Given the description of an element on the screen output the (x, y) to click on. 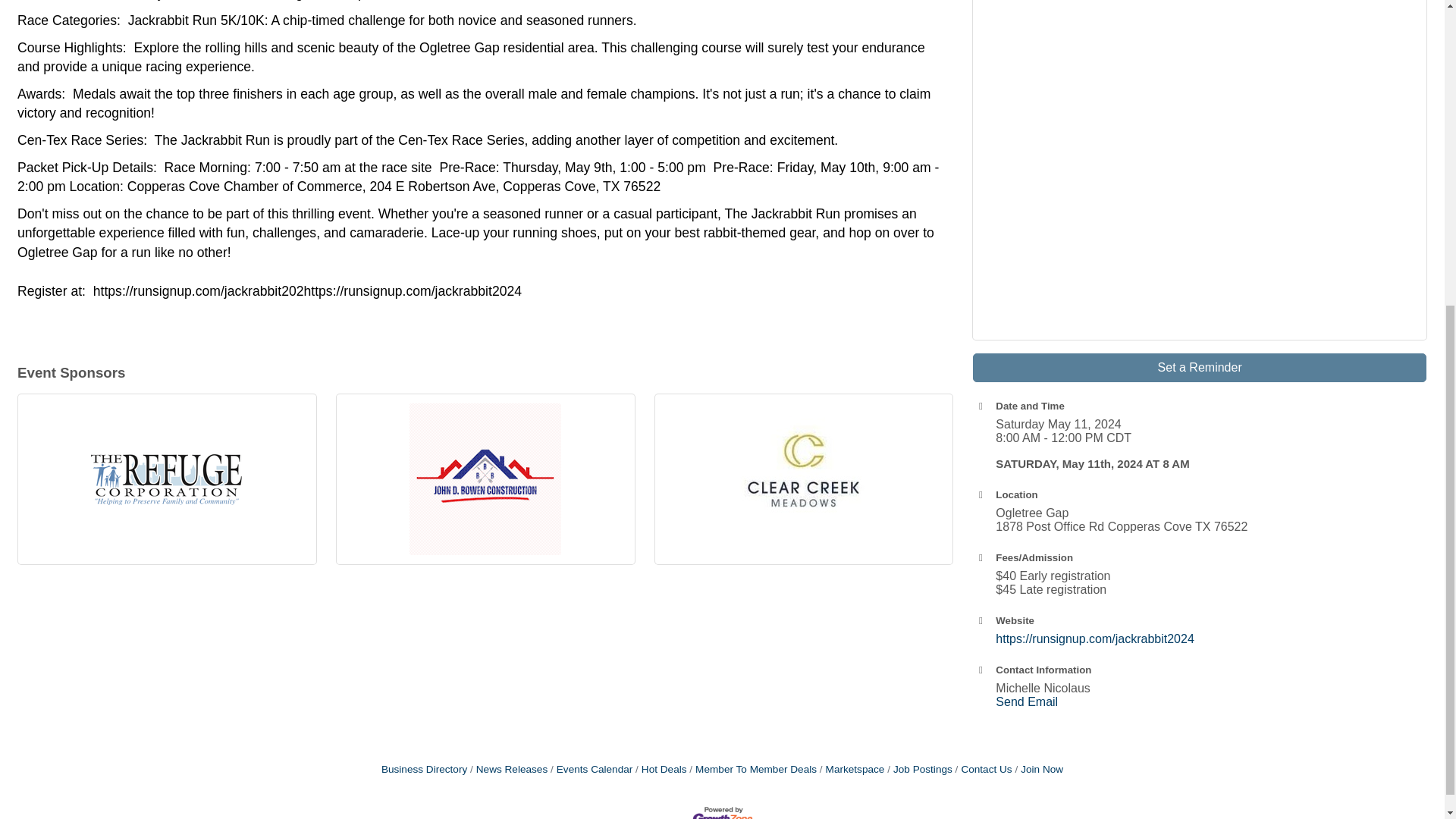
Set a Reminder (1199, 367)
Job Postings (919, 768)
Member To Member Deals (752, 768)
Marketspace (852, 768)
News Releases (508, 768)
Hot Deals (659, 768)
Business Directory (424, 768)
Join Now (1038, 768)
Contact Us (983, 768)
Events Calendar (590, 768)
